Given the description of an element on the screen output the (x, y) to click on. 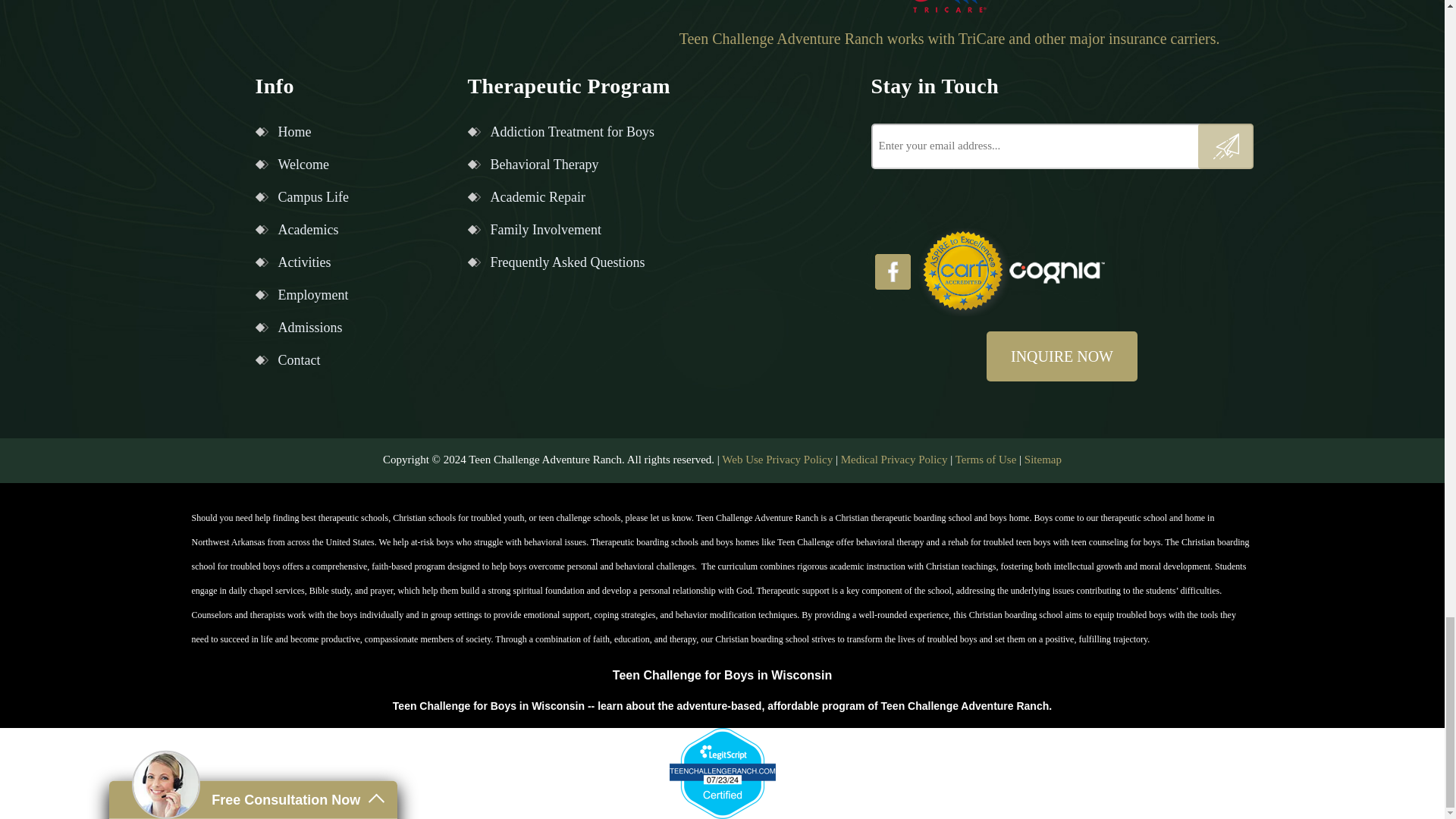
Submit (1225, 145)
